Given the description of an element on the screen output the (x, y) to click on. 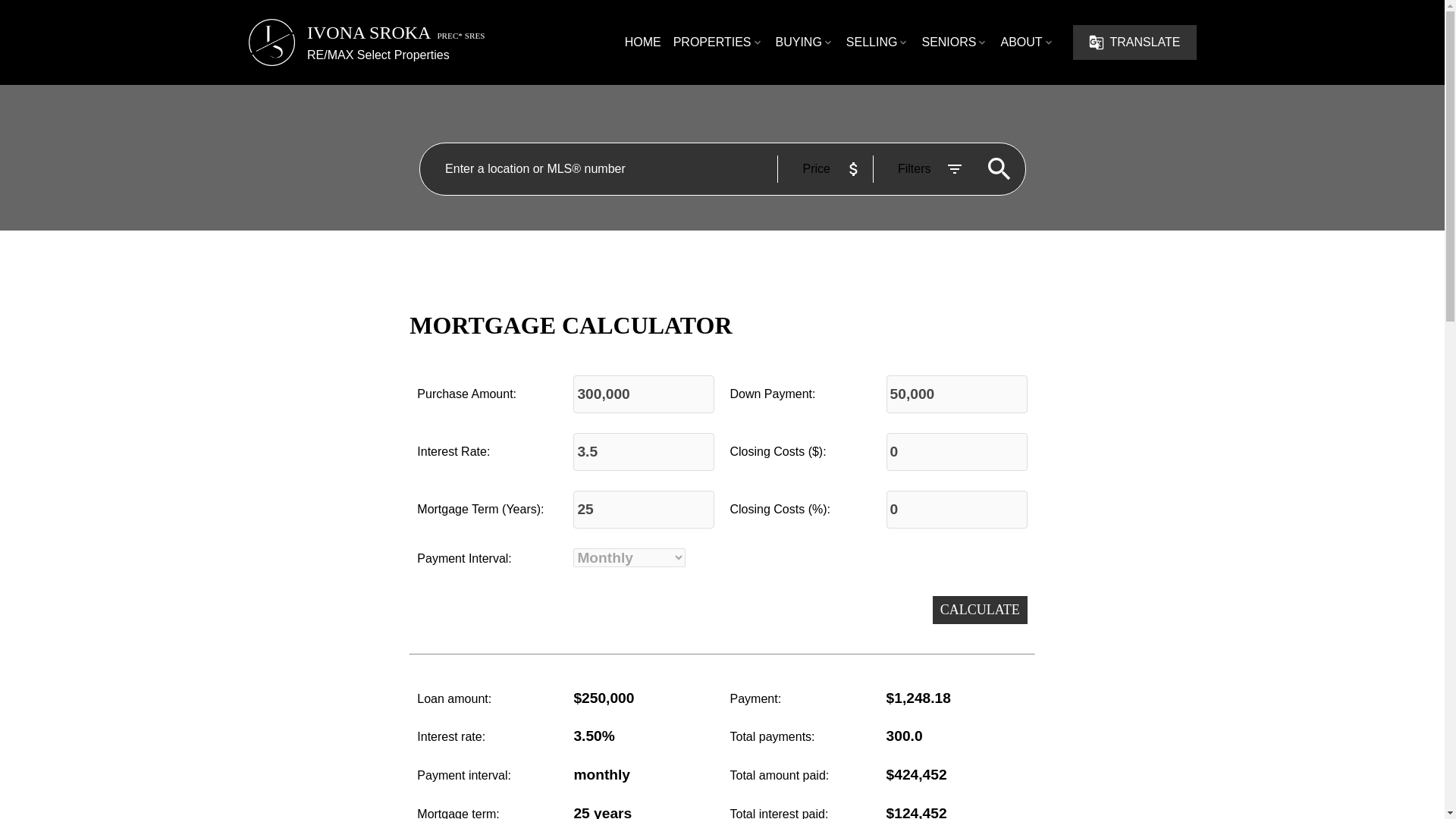
CALCULATE (980, 610)
HOME (642, 42)
SENIORS (954, 42)
numPayments (957, 736)
0 (956, 509)
rate (644, 736)
300,000 (643, 394)
term (644, 806)
totalAmount (644, 698)
totalPaid (957, 774)
0 (956, 451)
payment (957, 698)
TRANSLATE (1134, 42)
interval (644, 774)
50,000 (956, 394)
